Given the description of an element on the screen output the (x, y) to click on. 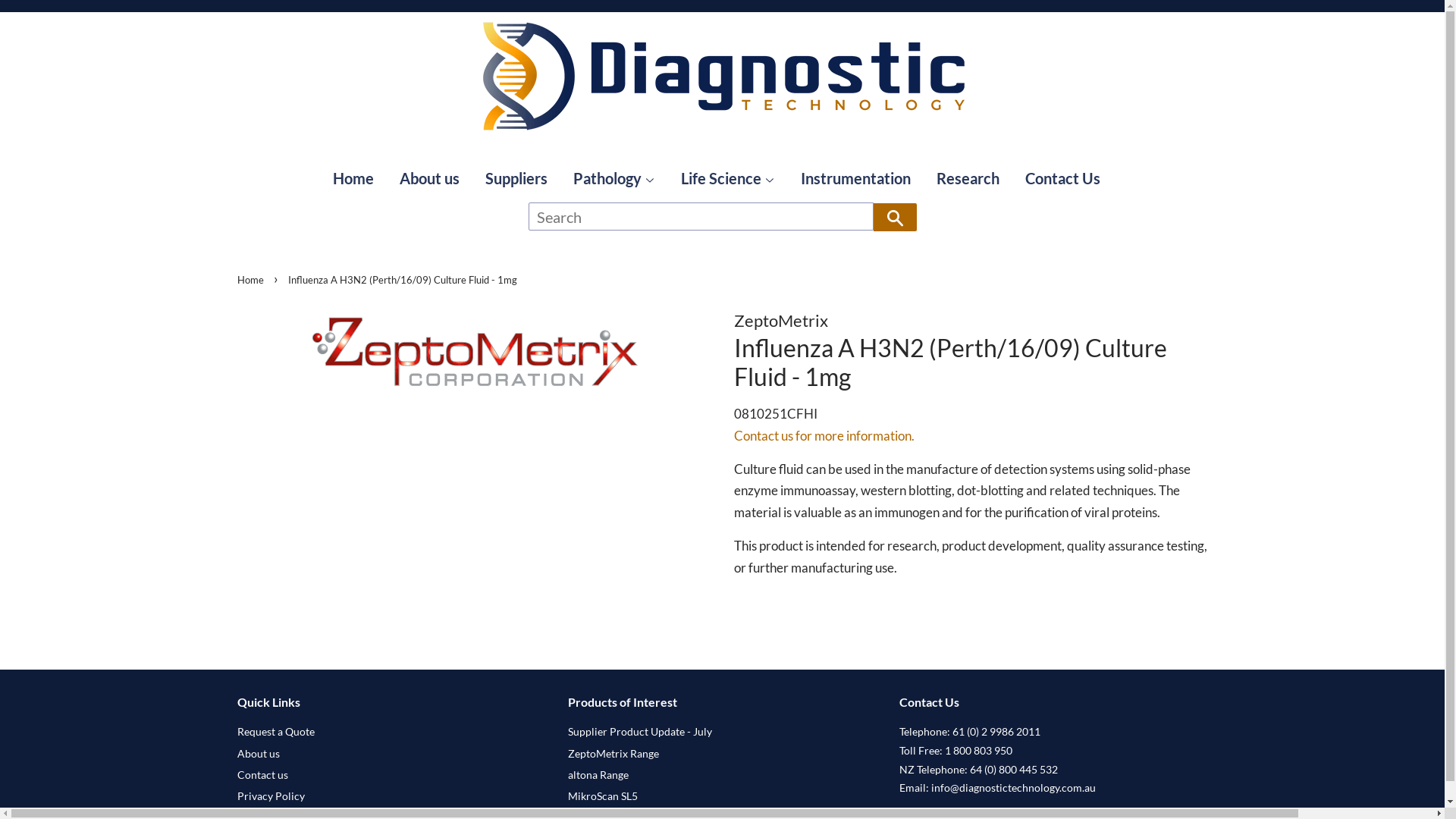
ZeptoMetrix Range Element type: text (612, 752)
Suppliers Element type: text (515, 177)
Home Element type: text (358, 177)
Search Element type: text (894, 217)
Supplier Product Update - July Element type: text (639, 730)
Home Element type: text (251, 279)
Contact us Element type: text (261, 774)
Contact us for more information. Element type: text (824, 435)
Privacy Policy Element type: text (270, 795)
Request a Quote Element type: text (274, 730)
About us Element type: text (257, 752)
Research Element type: text (967, 177)
MikroScan SL5 Element type: text (602, 795)
Life Science Element type: text (727, 177)
Instrumentation Element type: text (855, 177)
About us Element type: text (429, 177)
altona Range Element type: text (597, 774)
Contact Us Element type: text (1062, 177)
Pathology Element type: text (613, 177)
